Given the description of an element on the screen output the (x, y) to click on. 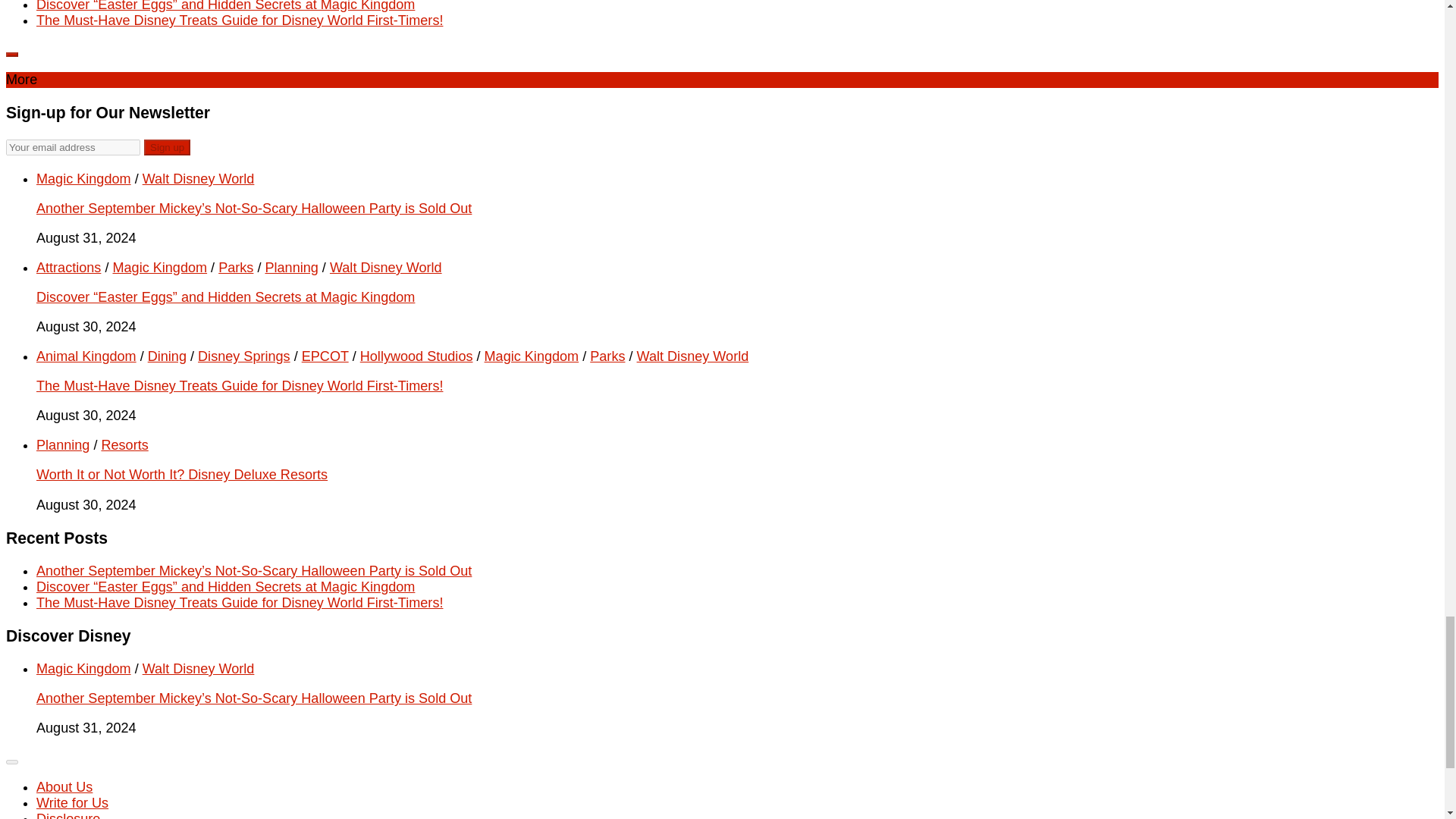
Sign up (167, 147)
Menu (11, 762)
Expand Sidebar (11, 54)
